Given the description of an element on the screen output the (x, y) to click on. 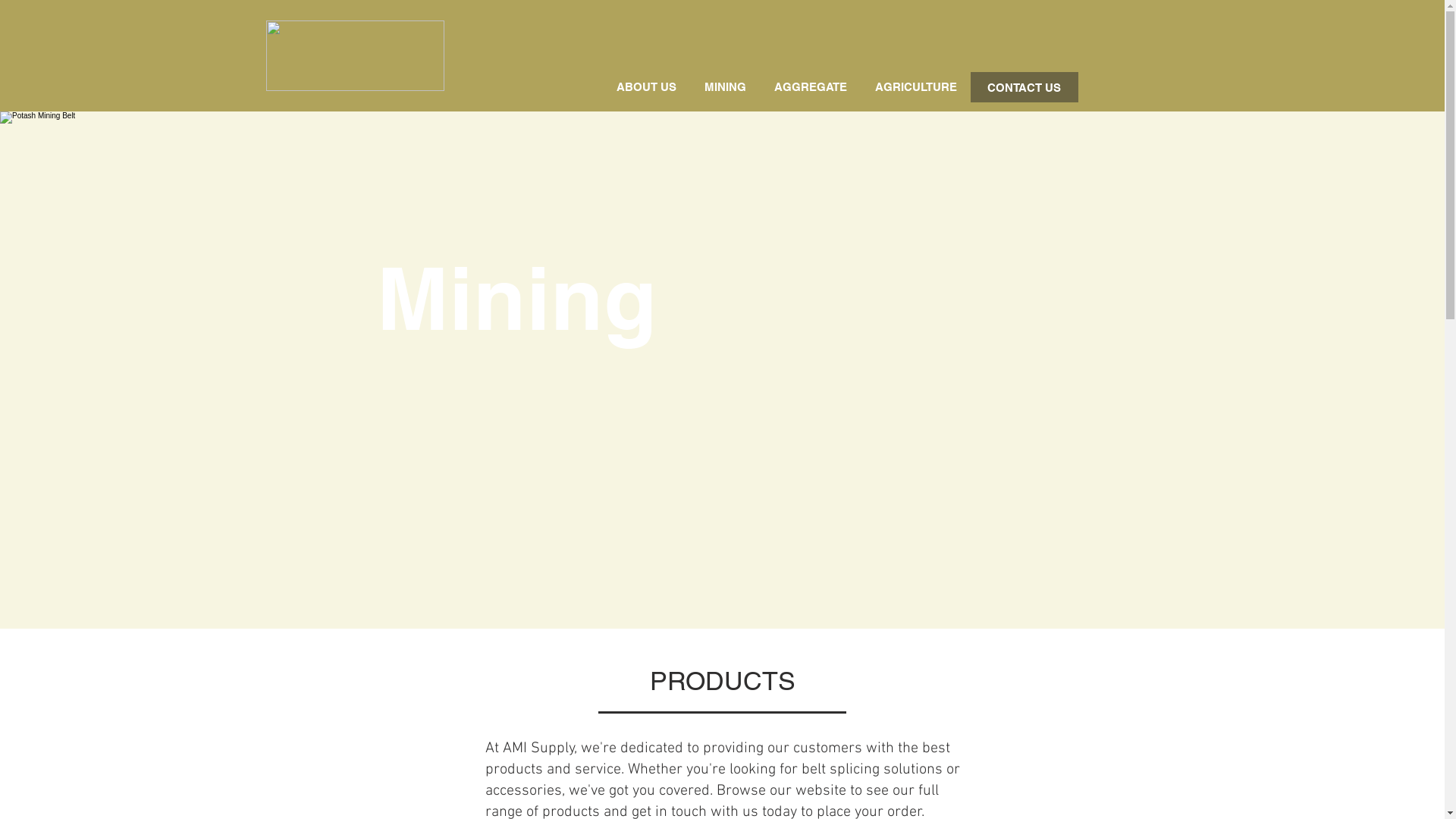
AGRICULTURE Element type: text (915, 87)
MINING Element type: text (724, 87)
CONTACT US Element type: text (1024, 87)
ABOUT US Element type: text (646, 87)
AGGREGATE Element type: text (809, 87)
